Given the description of an element on the screen output the (x, y) to click on. 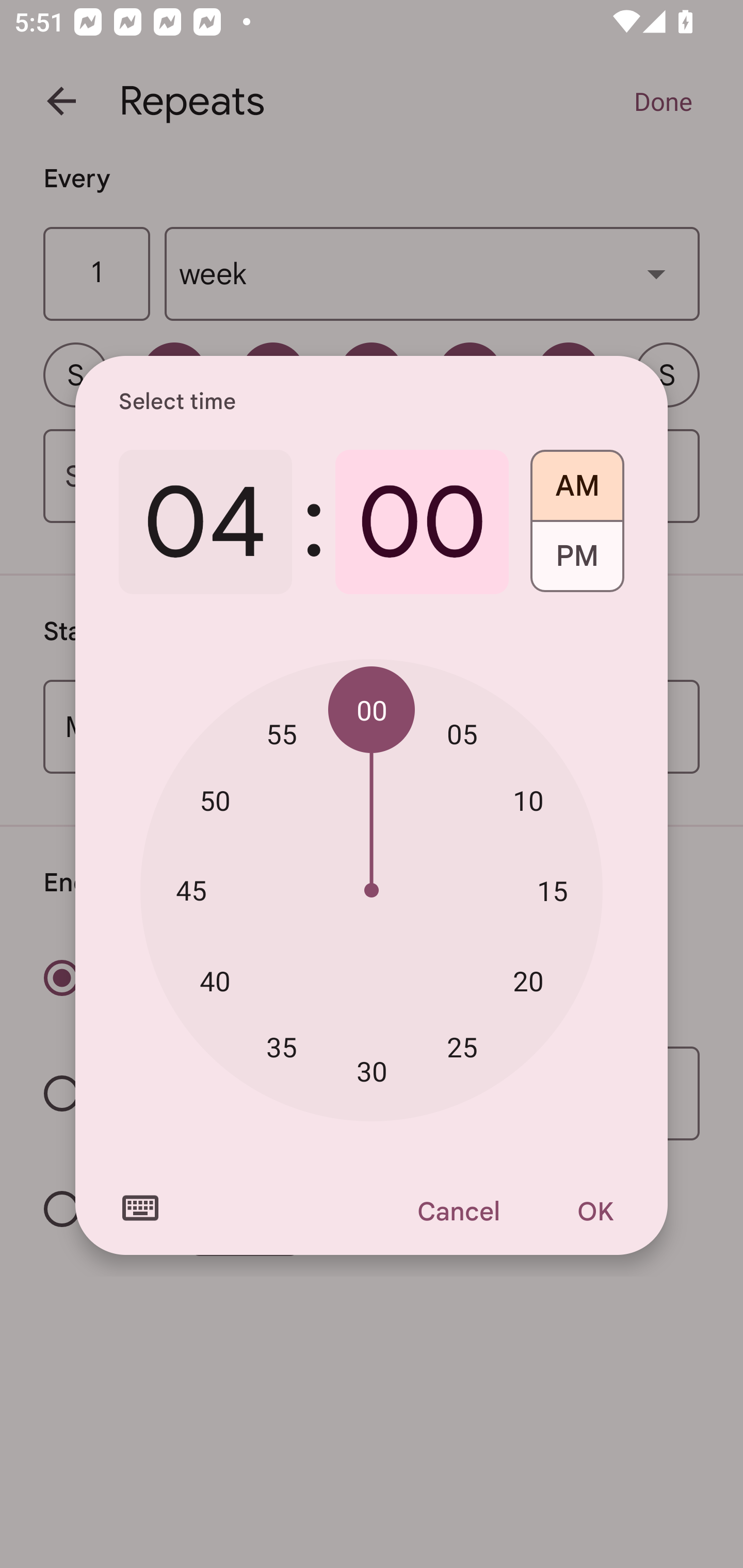
AM (577, 478)
04 4 o'clock (204, 522)
00 0 minutes (421, 522)
PM (577, 563)
00 00 minutes (371, 710)
55 55 minutes (281, 733)
05 05 minutes (462, 733)
50 50 minutes (214, 800)
10 10 minutes (528, 800)
45 45 minutes (190, 889)
15 15 minutes (551, 890)
40 40 minutes (214, 980)
20 20 minutes (528, 980)
35 35 minutes (281, 1046)
25 25 minutes (462, 1046)
30 30 minutes (371, 1071)
Switch to text input mode for the time input. (140, 1208)
Cancel (458, 1211)
OK (595, 1211)
